Given the description of an element on the screen output the (x, y) to click on. 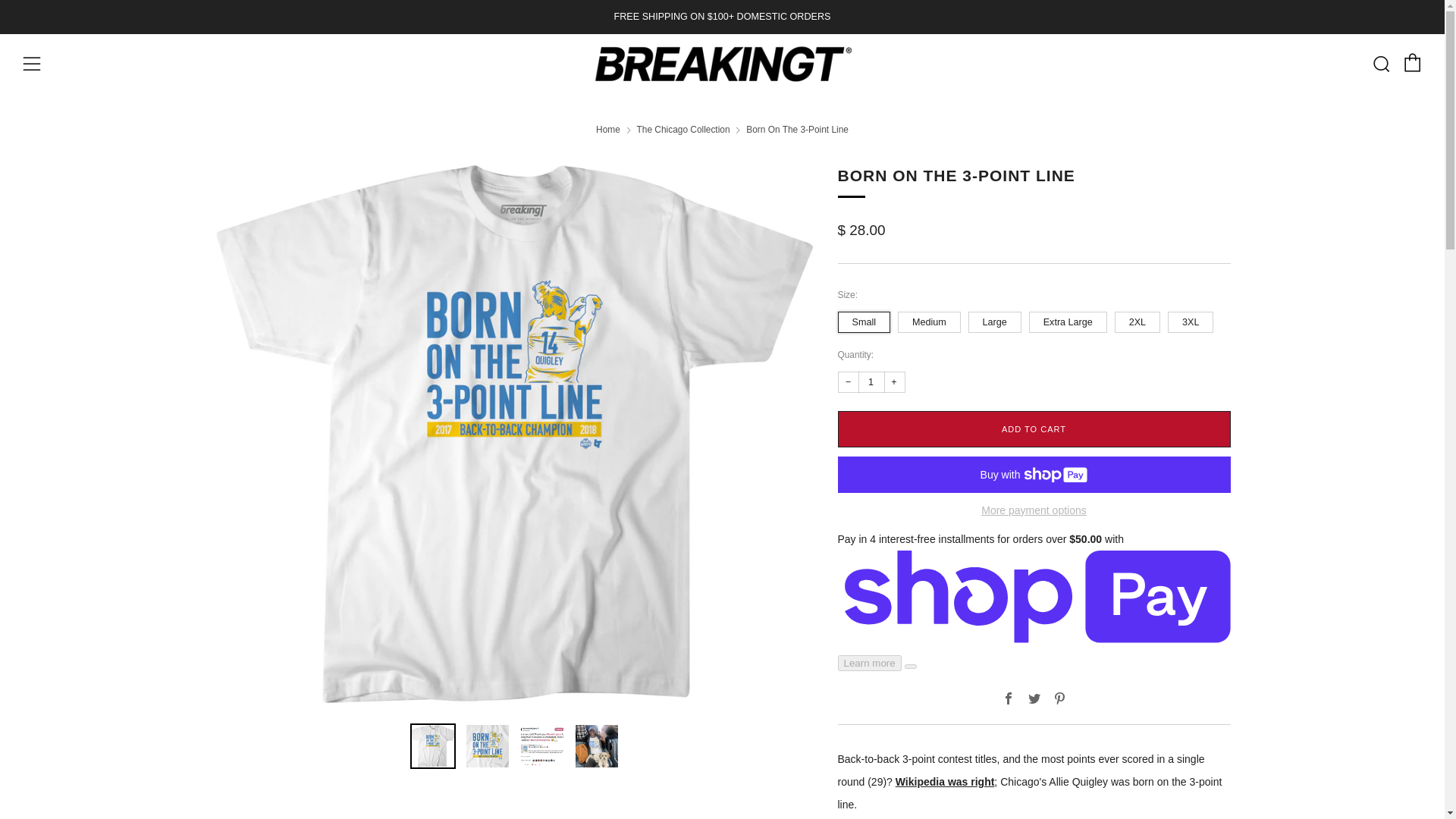
Large (997, 318)
Home (607, 129)
Medium (931, 318)
2XL (1139, 318)
1 (872, 382)
3XL (1192, 318)
Extra Large (1070, 318)
Small (866, 318)
